Given the description of an element on the screen output the (x, y) to click on. 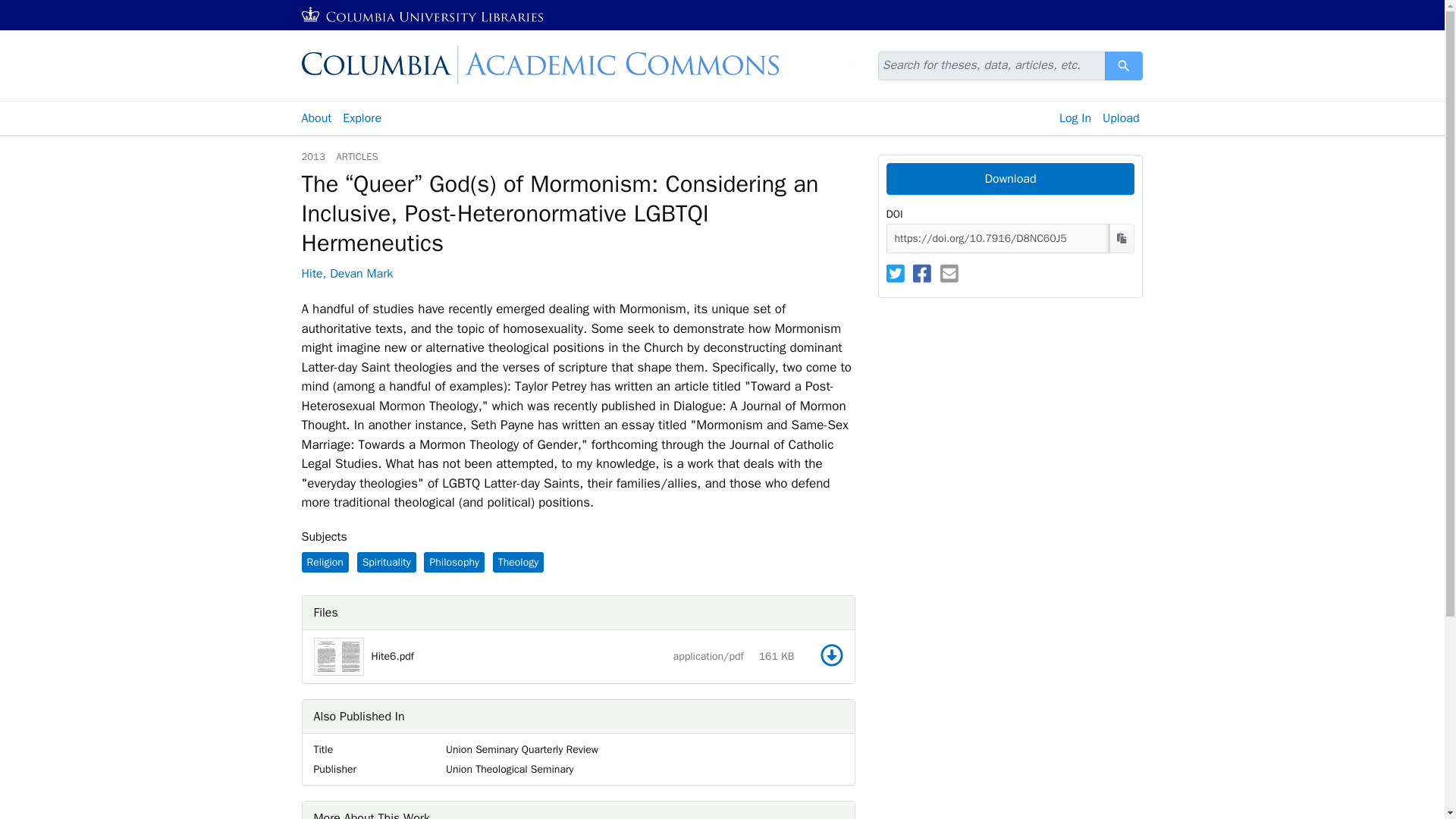
Search (1123, 65)
Religion (325, 562)
Columbia University Libraries (422, 14)
Skip to main content (39, 9)
Theology (518, 562)
Philosophy (453, 562)
About (315, 118)
Download (1123, 65)
Academic Commons (1009, 178)
